Given the description of an element on the screen output the (x, y) to click on. 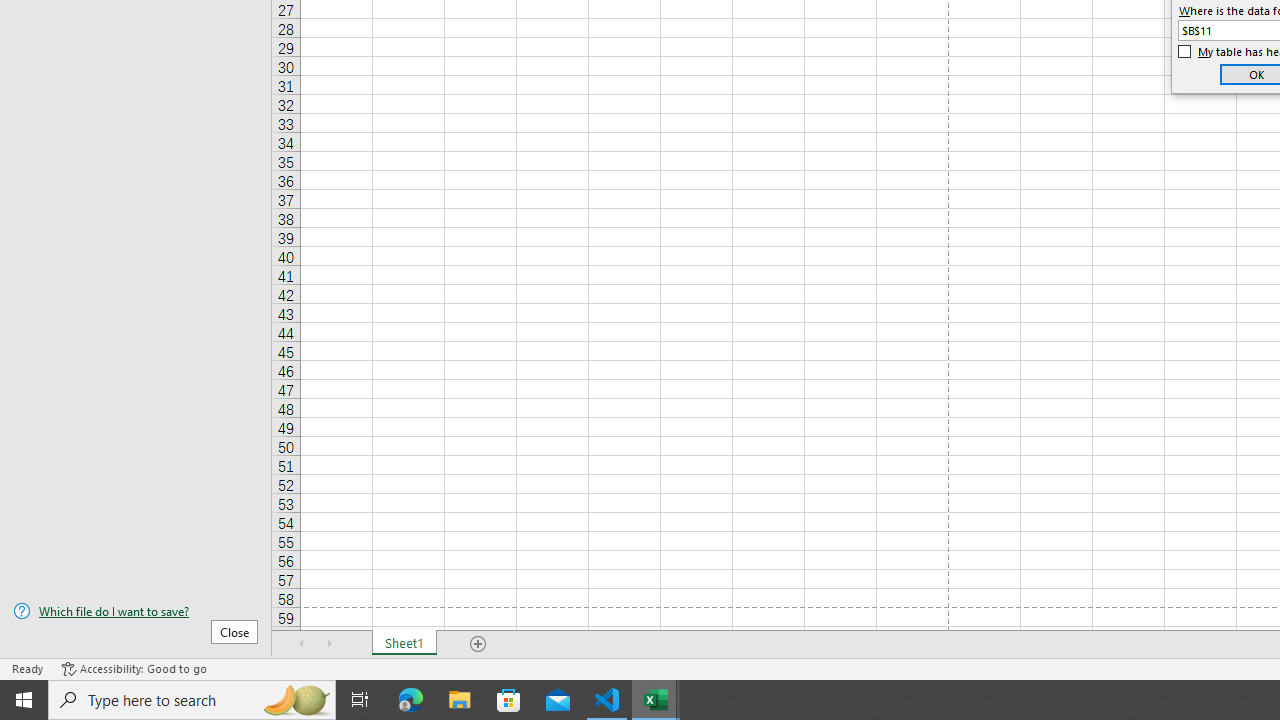
Sheet1 (404, 644)
Accessibility Checker Accessibility: Good to go (134, 668)
Which file do I want to save? (136, 611)
Scroll Left (302, 644)
Add Sheet (478, 644)
Scroll Right (330, 644)
Close (234, 631)
